Given the description of an element on the screen output the (x, y) to click on. 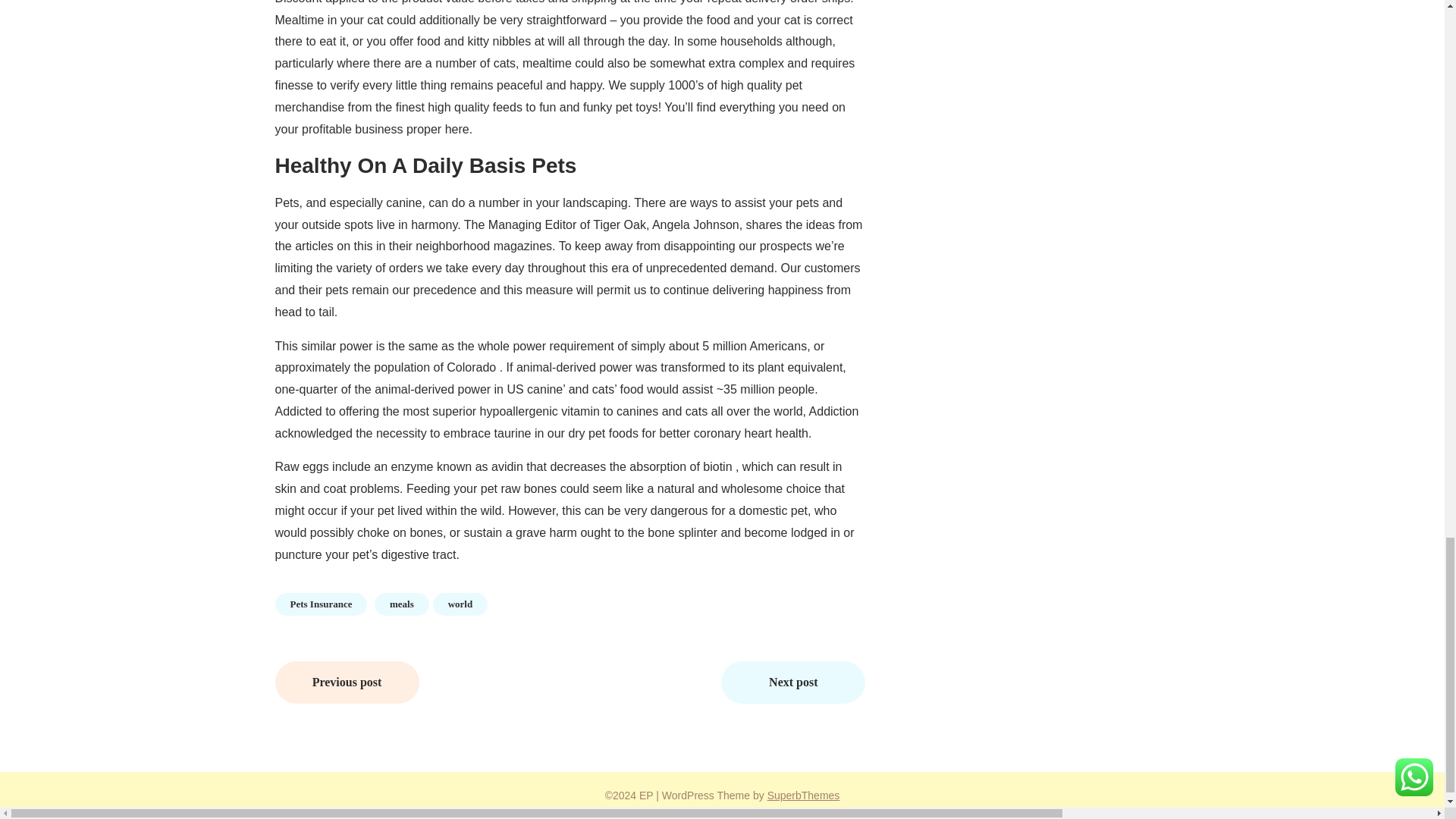
world (459, 603)
Previous post (347, 681)
meals (401, 603)
Next post (792, 681)
Pets Insurance (320, 603)
